Given the description of an element on the screen output the (x, y) to click on. 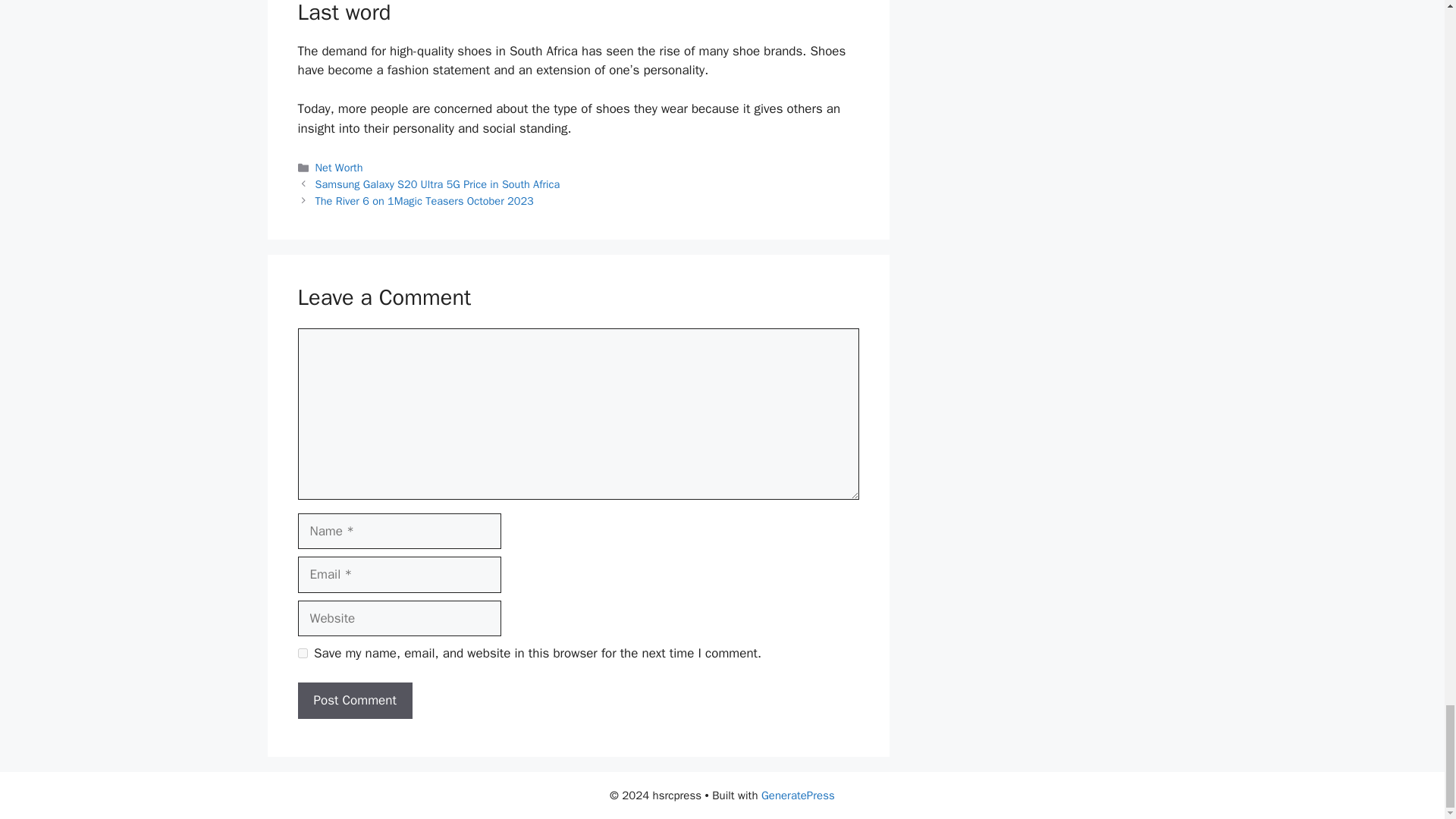
Net Worth (338, 167)
GeneratePress (797, 795)
yes (302, 653)
Post Comment (354, 700)
The River 6 on 1Magic Teasers October 2023 (424, 201)
Post Comment (354, 700)
Samsung Galaxy S20 Ultra 5G Price in South Africa (437, 183)
